Given the description of an element on the screen output the (x, y) to click on. 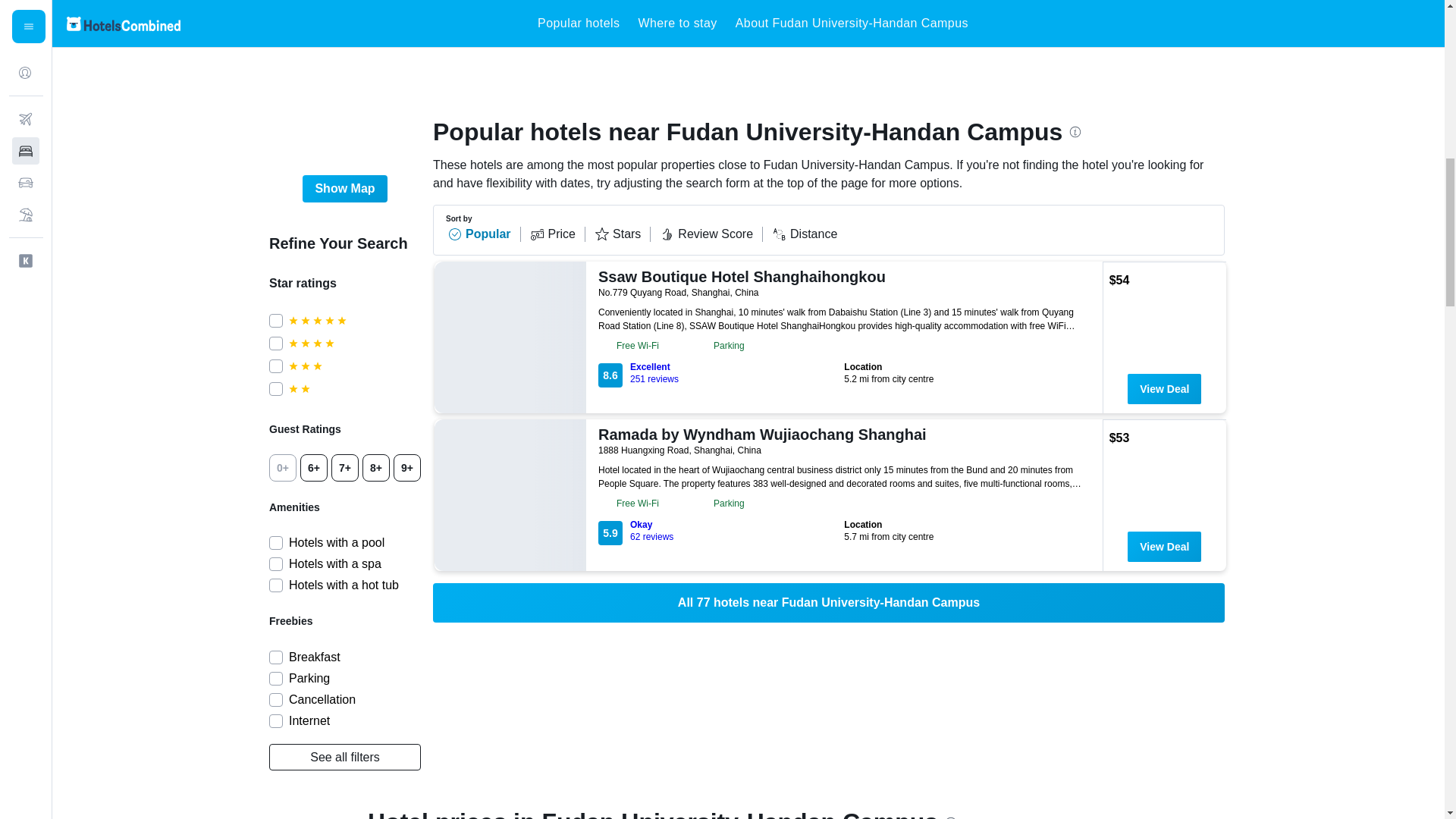
China Hotels (430, 22)
Wujiaochang Hotels (737, 22)
Price (557, 233)
Yangpu Hotels (649, 22)
Stars (622, 233)
2 stars (354, 388)
5 stars (354, 320)
Home (373, 22)
Review Score (710, 233)
Show Map (344, 188)
